Given the description of an element on the screen output the (x, y) to click on. 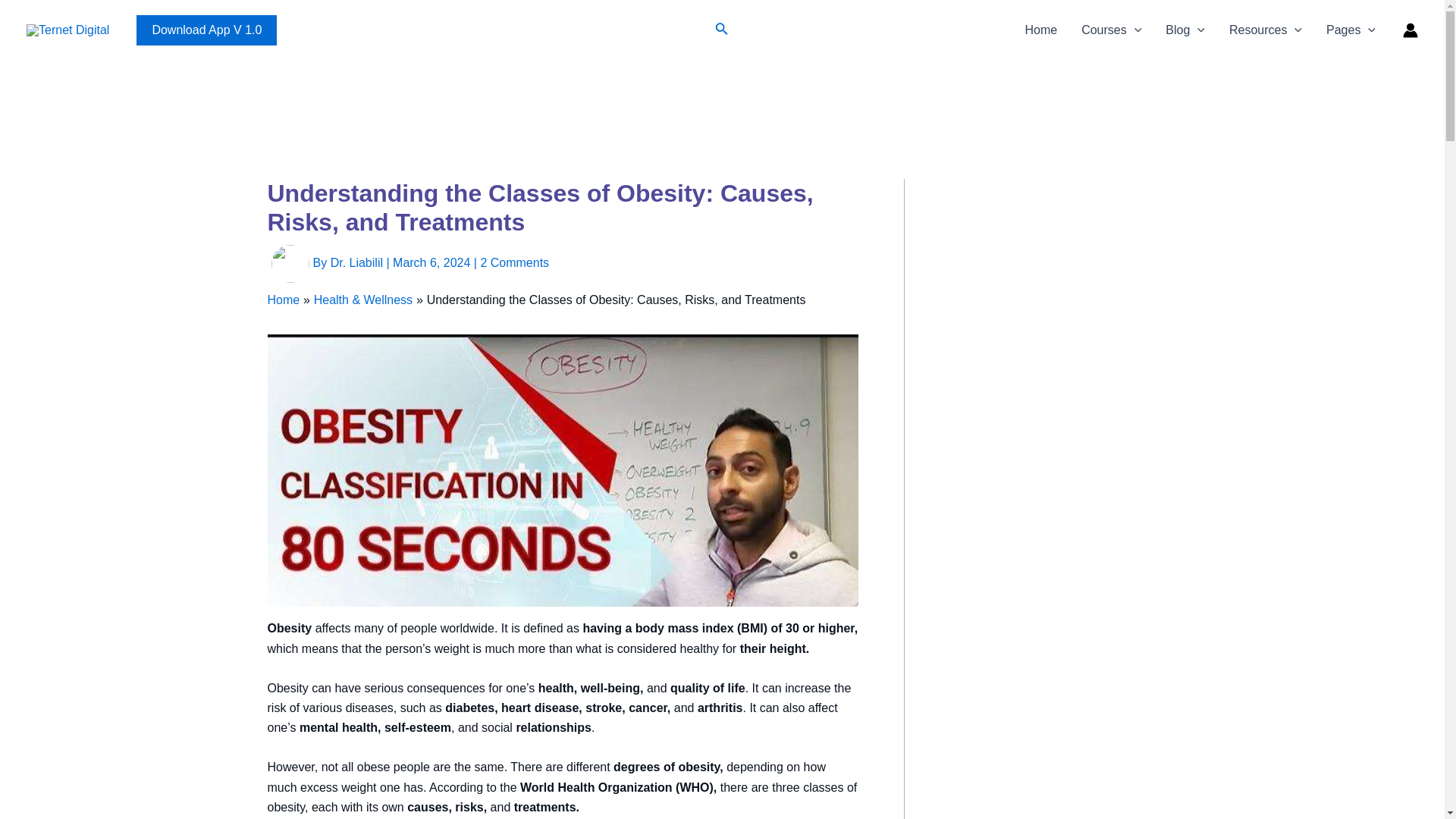
Resources (1265, 30)
View all posts by Dr. Liabilil (358, 262)
Download App V 1.0 (206, 30)
Courses (1110, 30)
Blog (1185, 30)
Home (1039, 30)
Pages (1350, 30)
